Given the description of an element on the screen output the (x, y) to click on. 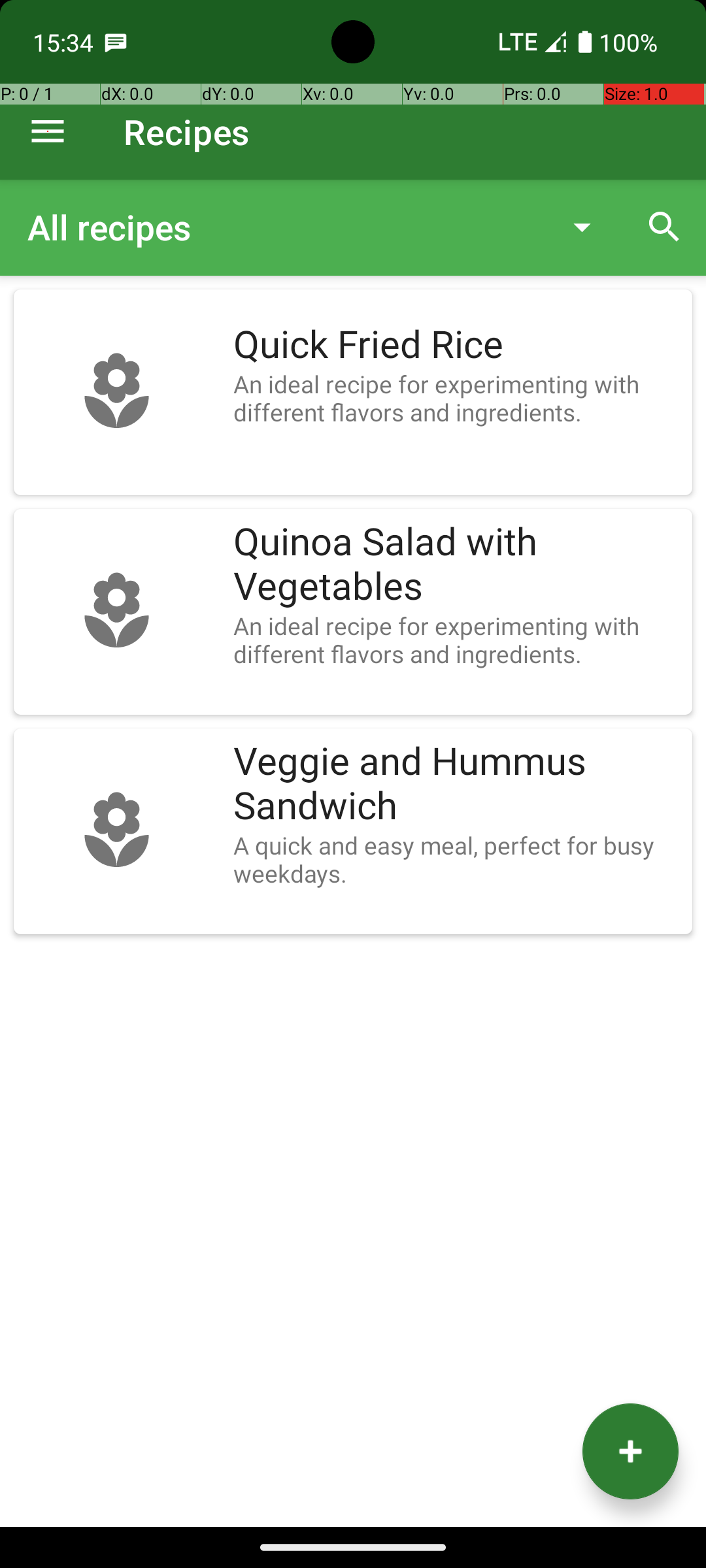
Veggie and Hummus Sandwich Element type: android.widget.TextView (455, 783)
